Given the description of an element on the screen output the (x, y) to click on. 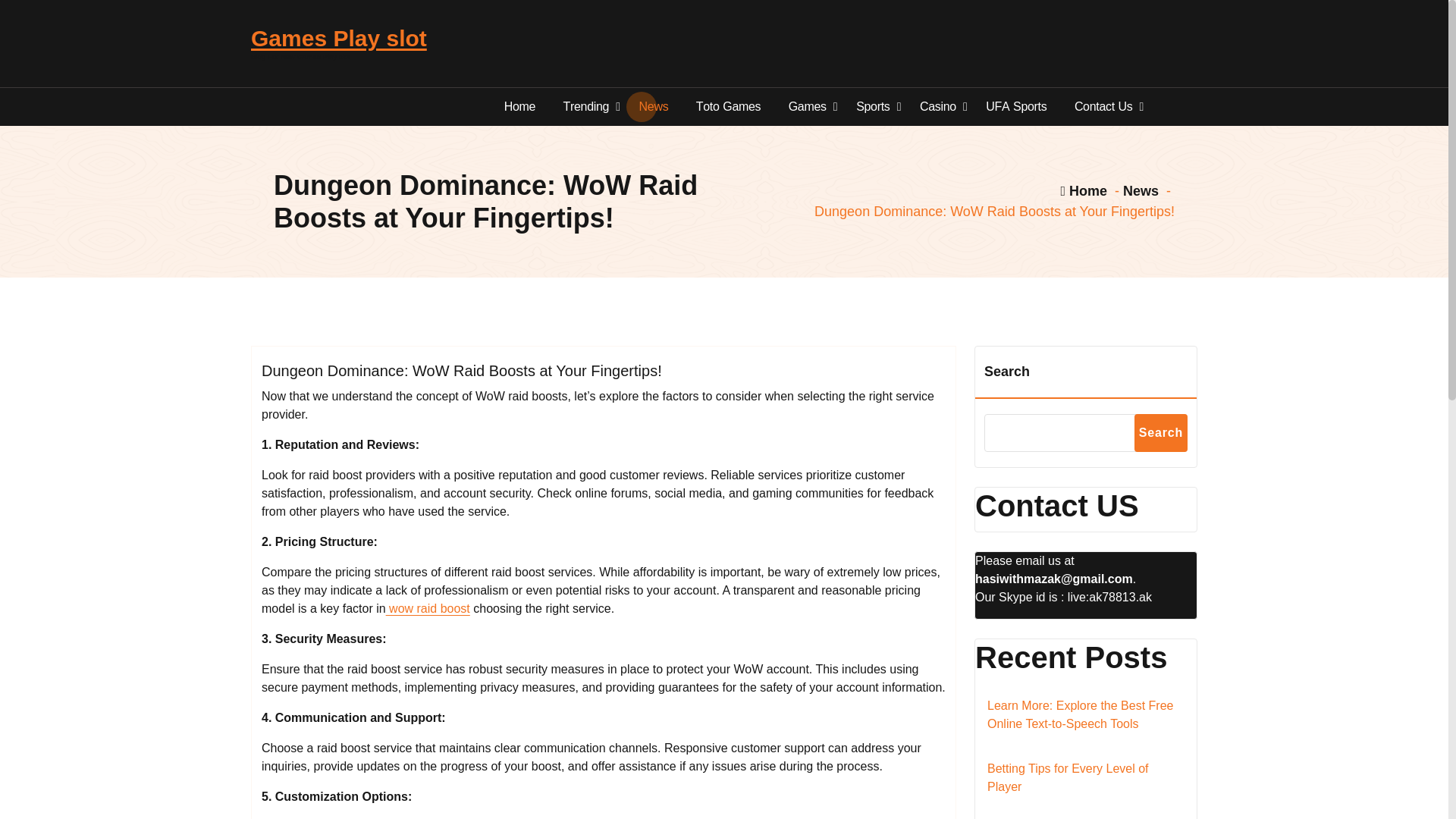
Home (520, 106)
Trending (587, 106)
Games Play slot (338, 38)
